Given the description of an element on the screen output the (x, y) to click on. 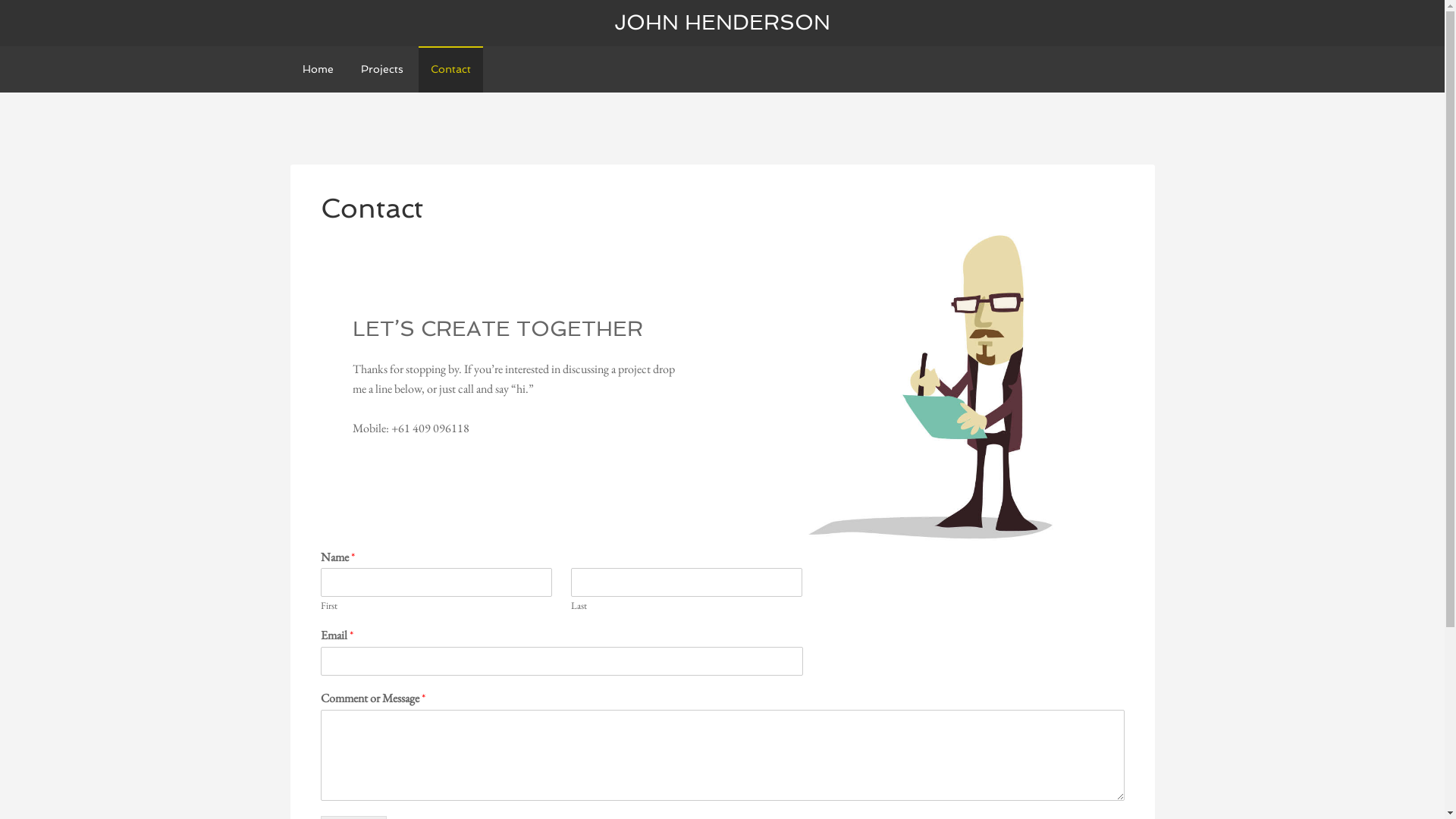
JOHN HENDERSON Element type: text (722, 21)
Projects Element type: text (381, 69)
Contact Element type: text (450, 69)
Home Element type: text (317, 69)
